Given the description of an element on the screen output the (x, y) to click on. 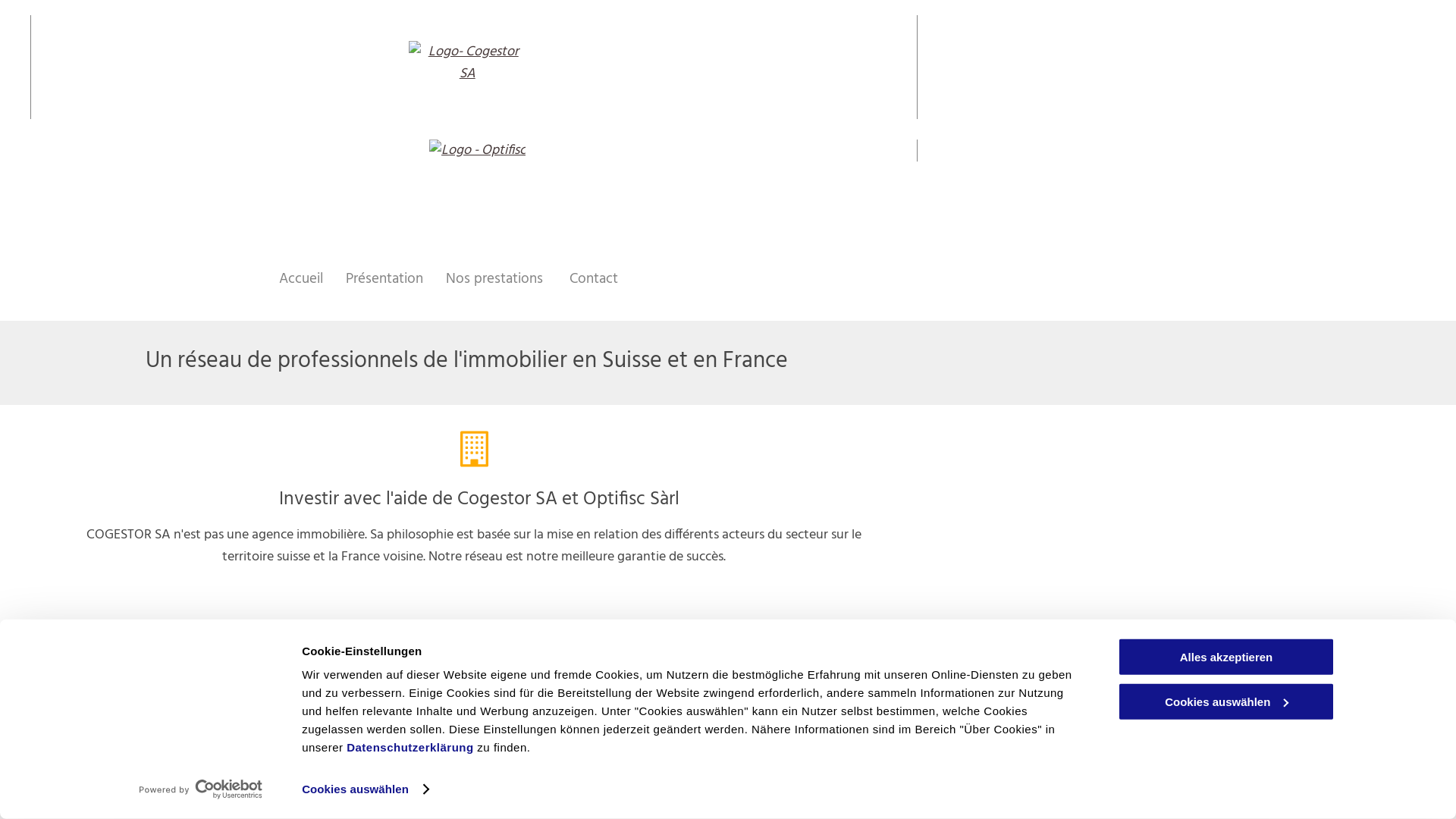
Contact Element type: text (582, 279)
Accueil Element type: text (289, 279)
Alles akzeptieren Element type: text (1225, 656)
Nos prestations Element type: text (484, 279)
